Given the description of an element on the screen output the (x, y) to click on. 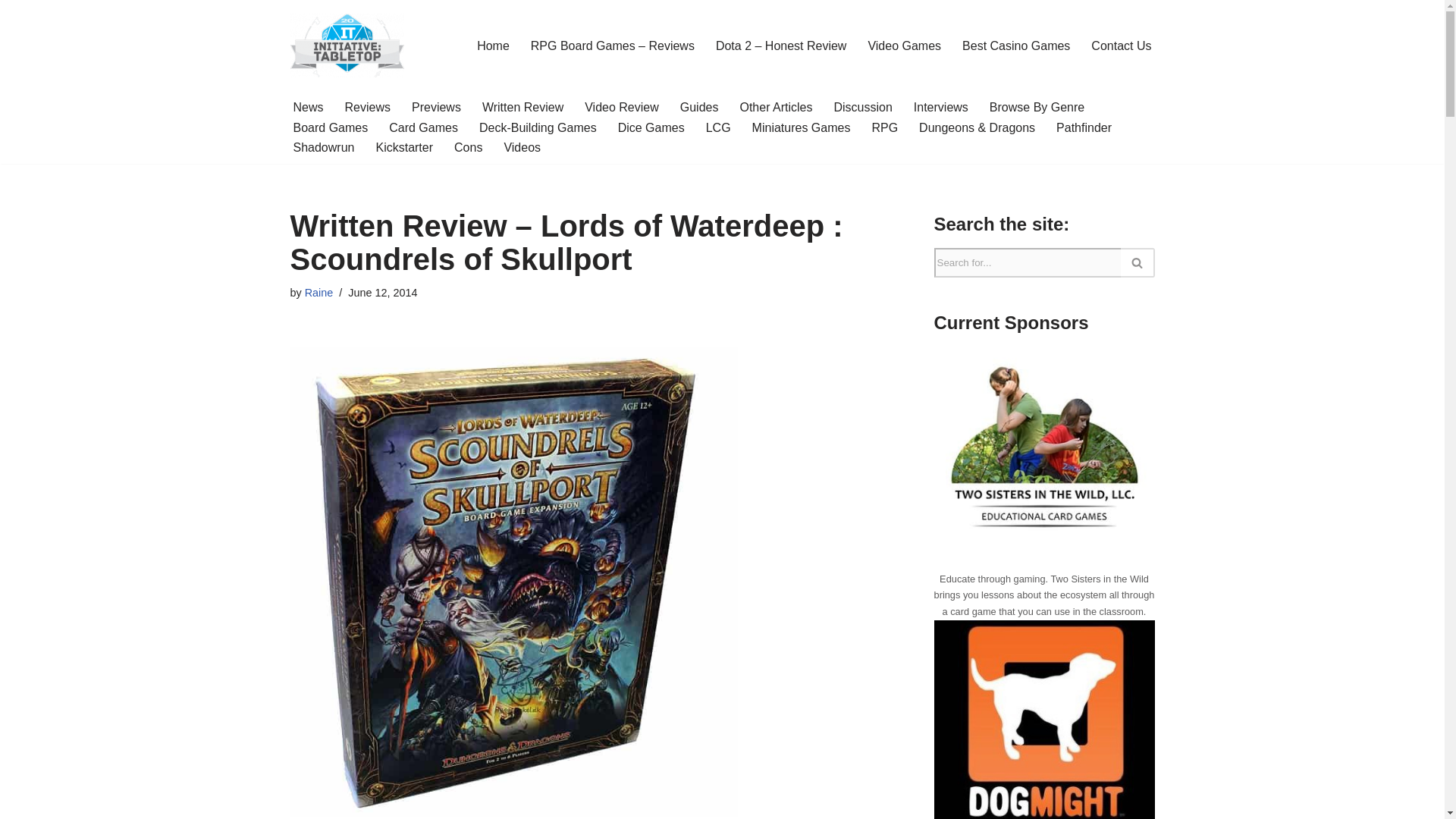
Interviews (941, 107)
Best Casino Games (1016, 46)
Shadowrun (322, 147)
Posts by Raine (318, 292)
Browse By Genre (1037, 107)
Other Articles (775, 107)
Deck-Building Games (537, 127)
Dice Games (650, 127)
Miniatures Games (801, 127)
Written Review (522, 107)
Videos (521, 147)
Contact Us (1120, 46)
Video Games (903, 46)
Board Games (330, 127)
Cons (467, 147)
